Given the description of an element on the screen output the (x, y) to click on. 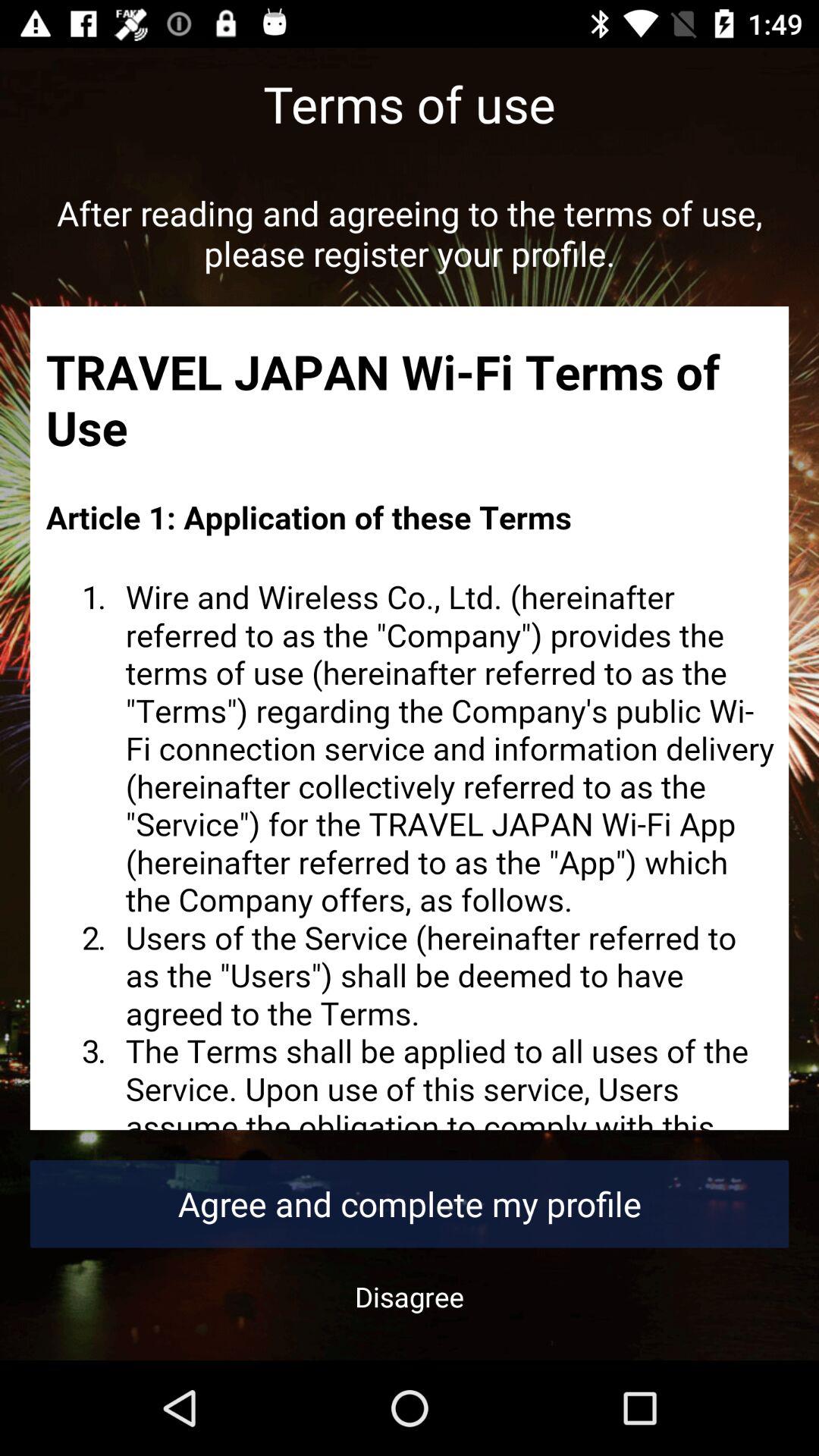
description (409, 718)
